Given the description of an element on the screen output the (x, y) to click on. 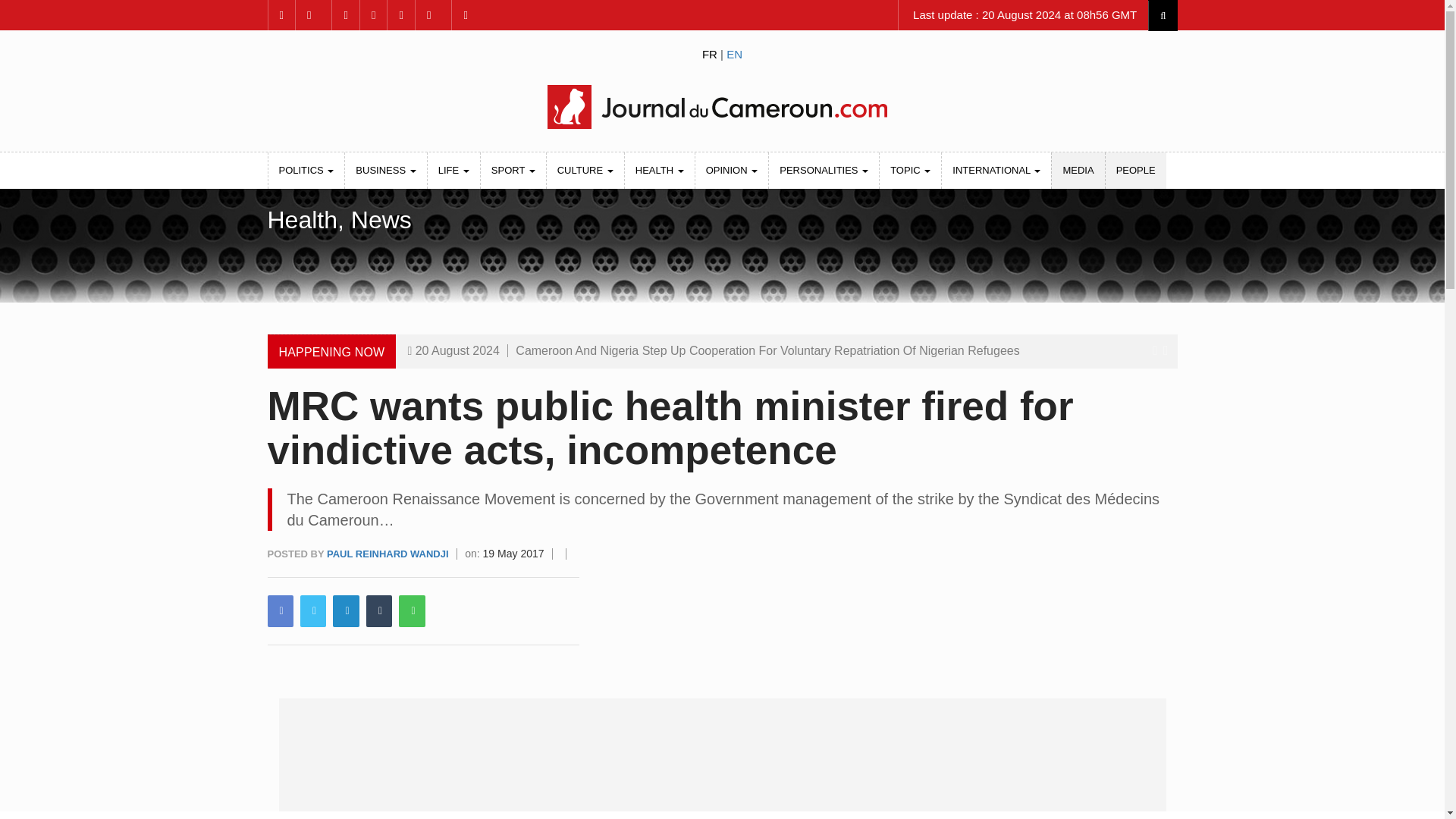
Last update : 20 August 2024 at 08h56 GMT (1023, 15)
JDC (721, 106)
EN (734, 53)
FR (709, 53)
POLITICS (306, 170)
BUSINESS (385, 170)
